Given the description of an element on the screen output the (x, y) to click on. 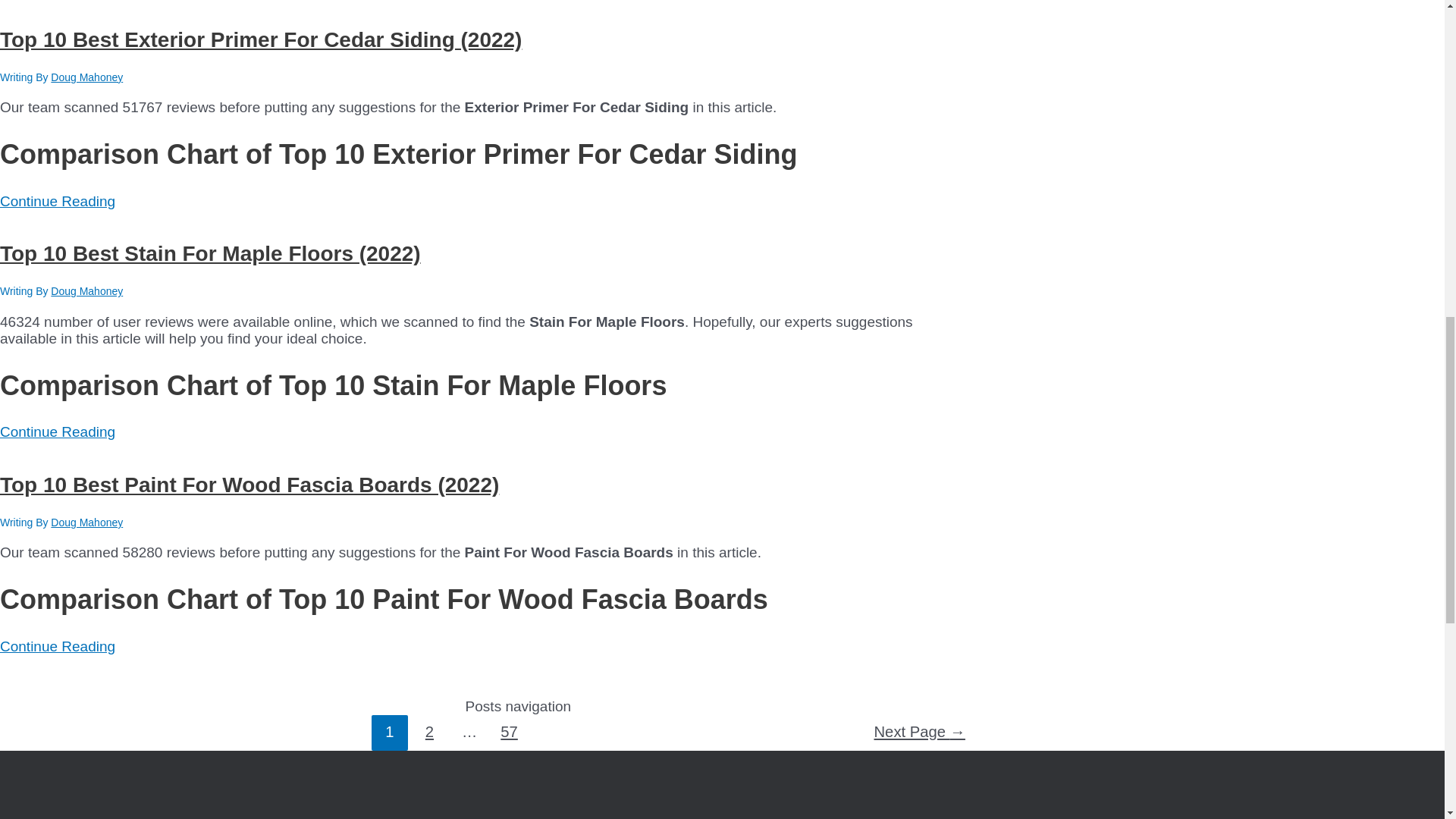
Continue Reading (57, 201)
View all posts by Doug Mahoney (86, 77)
Doug Mahoney (86, 291)
View all posts by Doug Mahoney (86, 522)
View all posts by Doug Mahoney (86, 291)
Doug Mahoney (86, 77)
Continue Reading (57, 431)
